Given the description of an element on the screen output the (x, y) to click on. 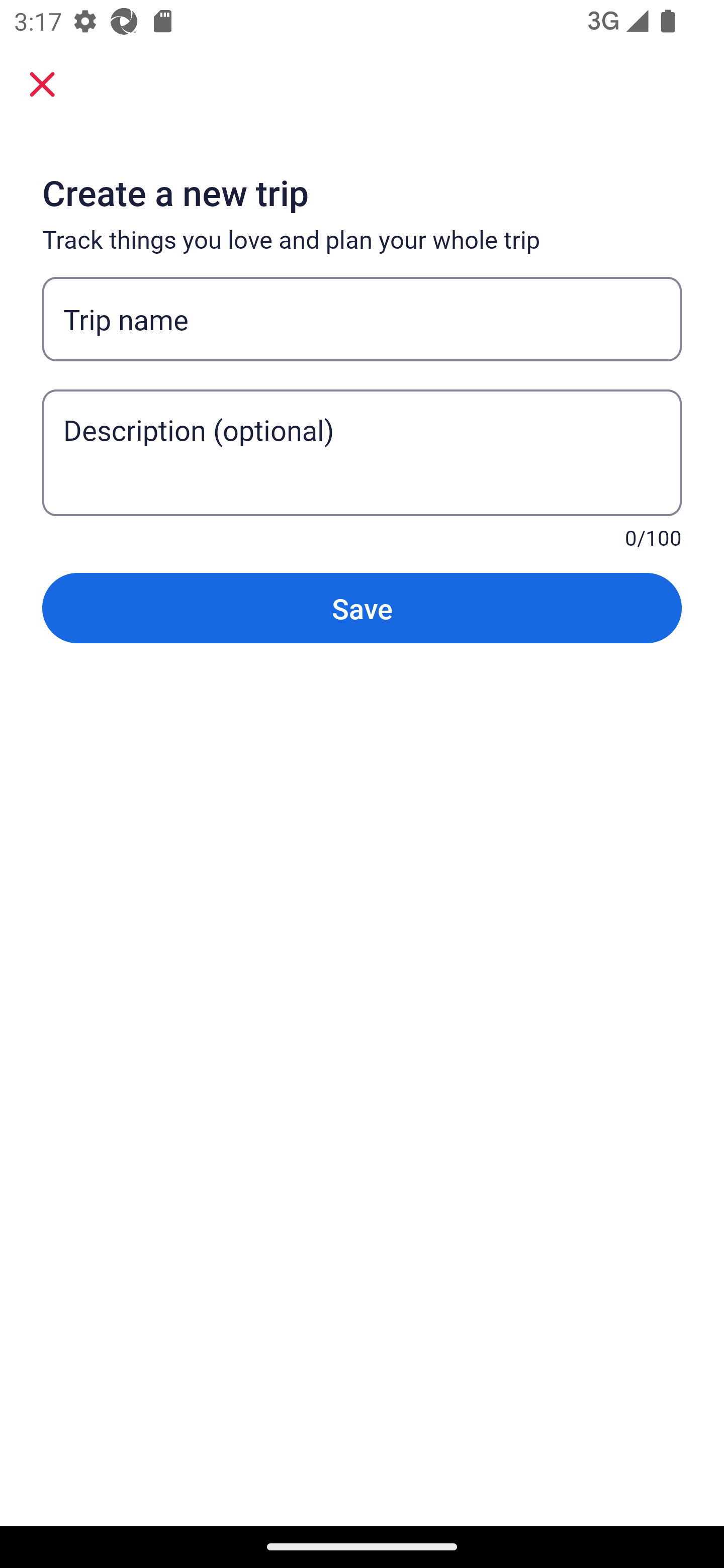
Close (41, 83)
Trip name (361, 318)
Save Button Save (361, 607)
